Given the description of an element on the screen output the (x, y) to click on. 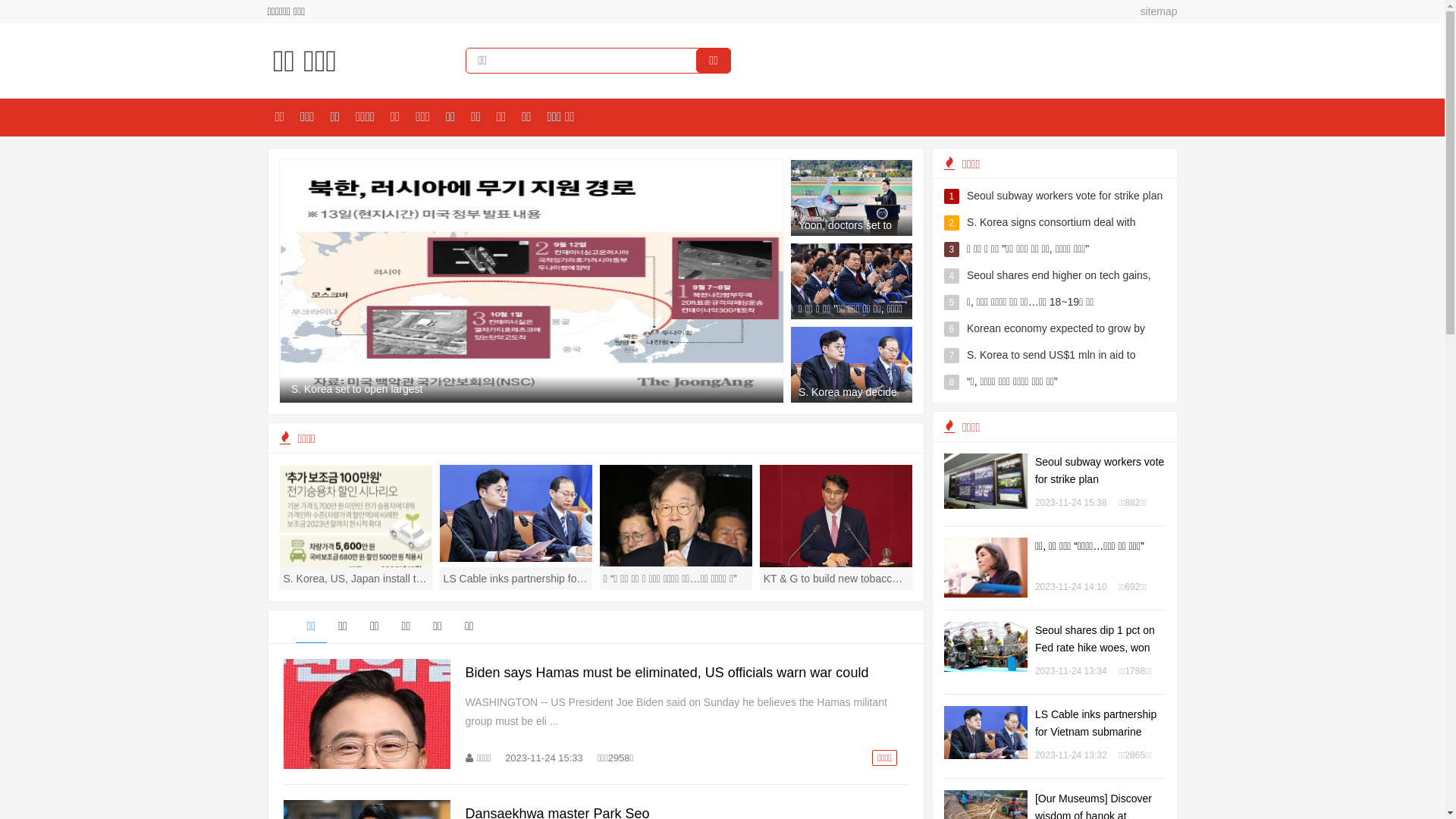
Seoul subway workers vote for strike plan Element type: text (1099, 470)
sitemap Element type: text (1152, 11)
1
Seoul subway workers vote for strike plan Element type: text (1054, 195)
KT & G to build new tobacco plant in Kazakhstan Element type: text (835, 526)
S. Korea set to open largest Element type: text (531, 281)
4
Seoul shares end higher on tech gains, Fed comments Element type: text (1054, 288)
LS Cable inks partnership for Vietnam submarine cable market Element type: text (1095, 731)
7
S. Korea to send US$1 mln in aid to quake Element type: text (1054, 368)
LS Cable inks partnership for Vietnam submarine cable market Element type: text (515, 526)
Yoon, doctors set to clash over medical school quota Element type: text (851, 231)
